Given the description of an element on the screen output the (x, y) to click on. 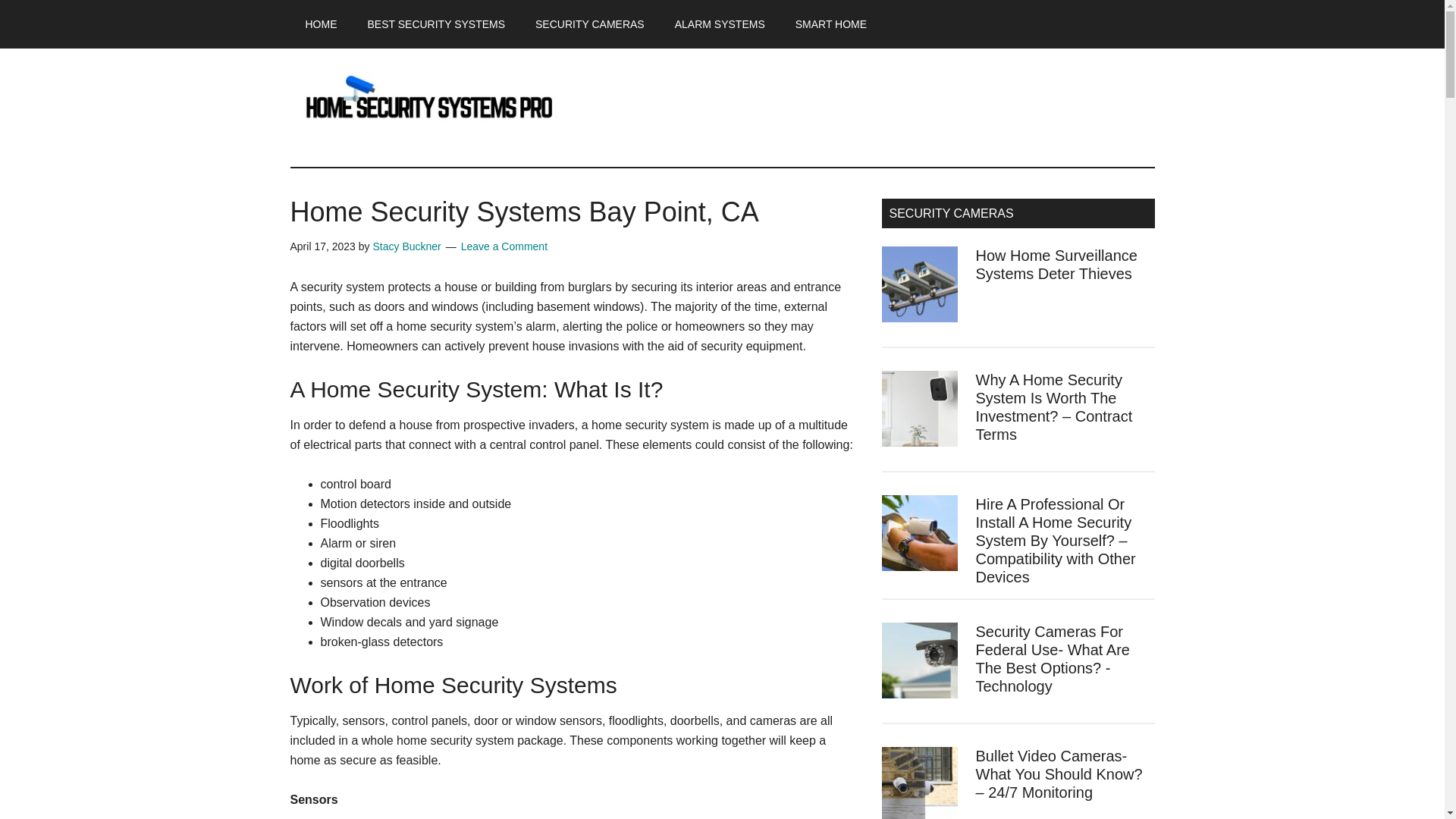
BEST SECURITY SYSTEMS (435, 24)
How Home Surveillance Systems Deter Thieves (1056, 264)
Leave a Comment (504, 246)
ALARM SYSTEMS (719, 24)
Stacy Buckner (406, 246)
HOME (320, 24)
SMART HOME (831, 24)
SECURITY CAMERAS (589, 24)
